Given the description of an element on the screen output the (x, y) to click on. 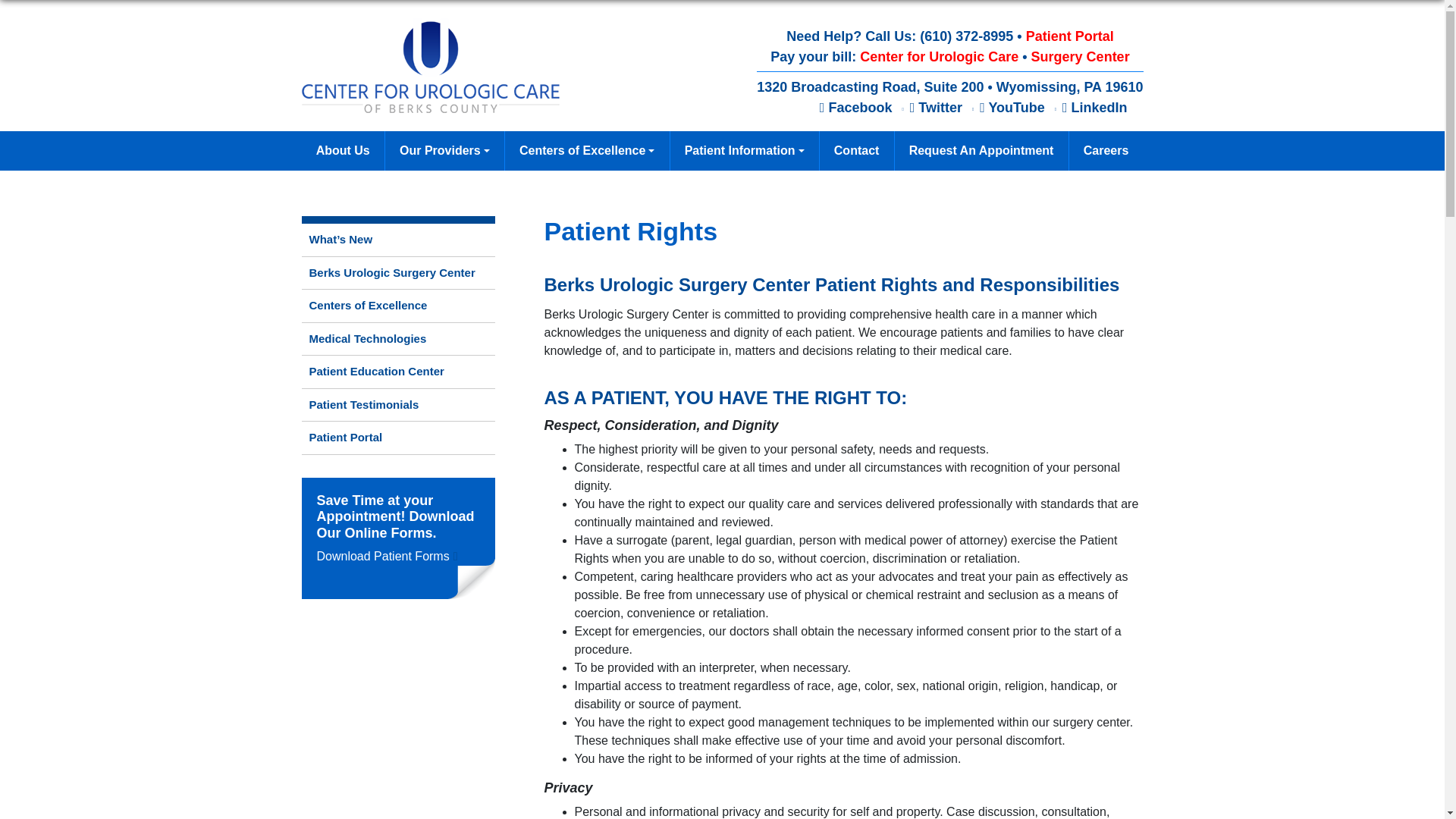
Center for Urologic Care (938, 56)
Centers of Excellence (587, 150)
Our Providers (444, 150)
Our Providers (444, 150)
YouTube (1012, 107)
LinkedIn (1094, 107)
About Us (342, 150)
Patient Portal (1069, 36)
Patient Information (743, 150)
Twitter (936, 107)
